Given the description of an element on the screen output the (x, y) to click on. 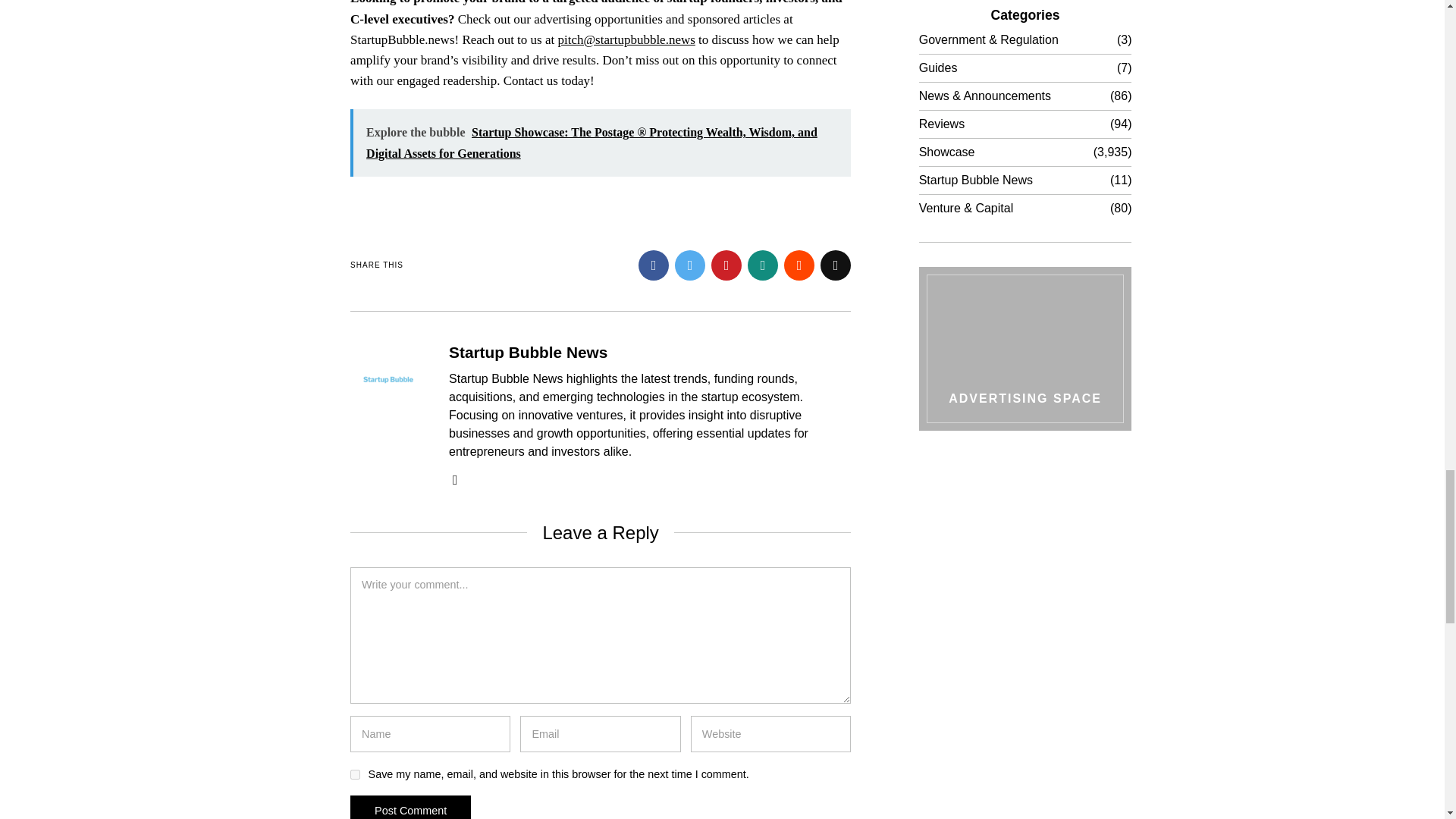
Twitter (689, 265)
Post Comment (410, 807)
Whatsapp (762, 265)
Facebook (653, 265)
Pinterest (726, 265)
yes (354, 774)
